Given the description of an element on the screen output the (x, y) to click on. 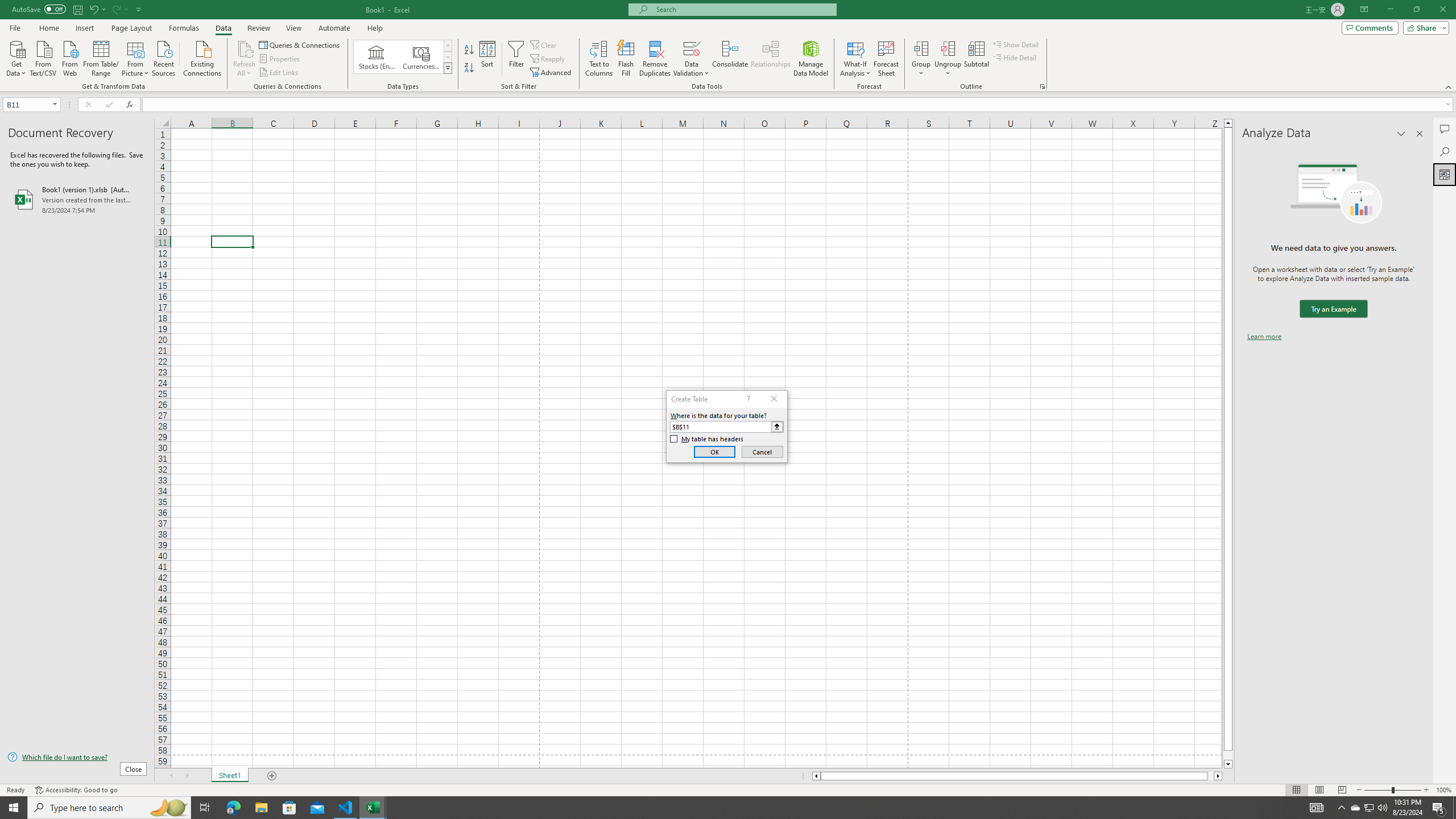
Save (77, 9)
Microsoft search (742, 9)
Scroll Left (171, 775)
Normal (1296, 790)
Row Down (448, 56)
Text to Columns... (598, 58)
Properties (280, 58)
Group... (921, 48)
Undo (92, 9)
Insert (83, 28)
Comments (1369, 27)
We need data to give you answers. Try an Example (1333, 308)
Open (54, 104)
Zoom Out (1377, 790)
Edit Links (279, 72)
